Given the description of an element on the screen output the (x, y) to click on. 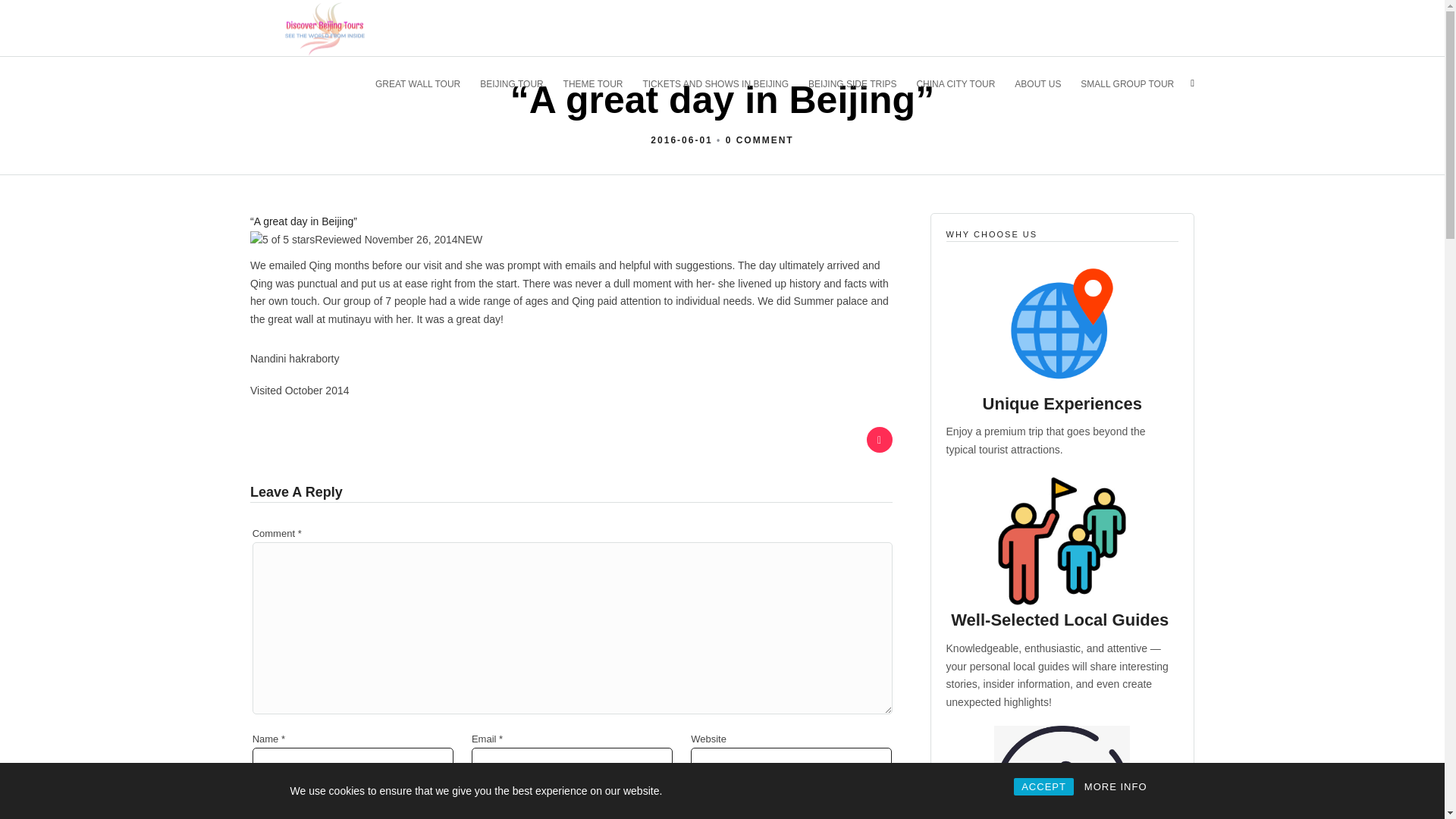
GREAT WALL TOUR (424, 83)
MORE INFO (1115, 786)
ABOUT US (1044, 83)
Post Comment (308, 812)
CHINA CITY TOUR (961, 83)
TICKETS AND SHOWS IN BEIJING (722, 83)
ACCEPT (1043, 786)
0 COMMENT (759, 140)
BEIJING SIDE TRIPS (858, 83)
Post Comment (308, 812)
2016-06-01 (680, 140)
SMALL GROUP TOUR (1133, 83)
BEIJING TOUR (518, 83)
THEME TOUR (599, 83)
